Given the description of an element on the screen output the (x, y) to click on. 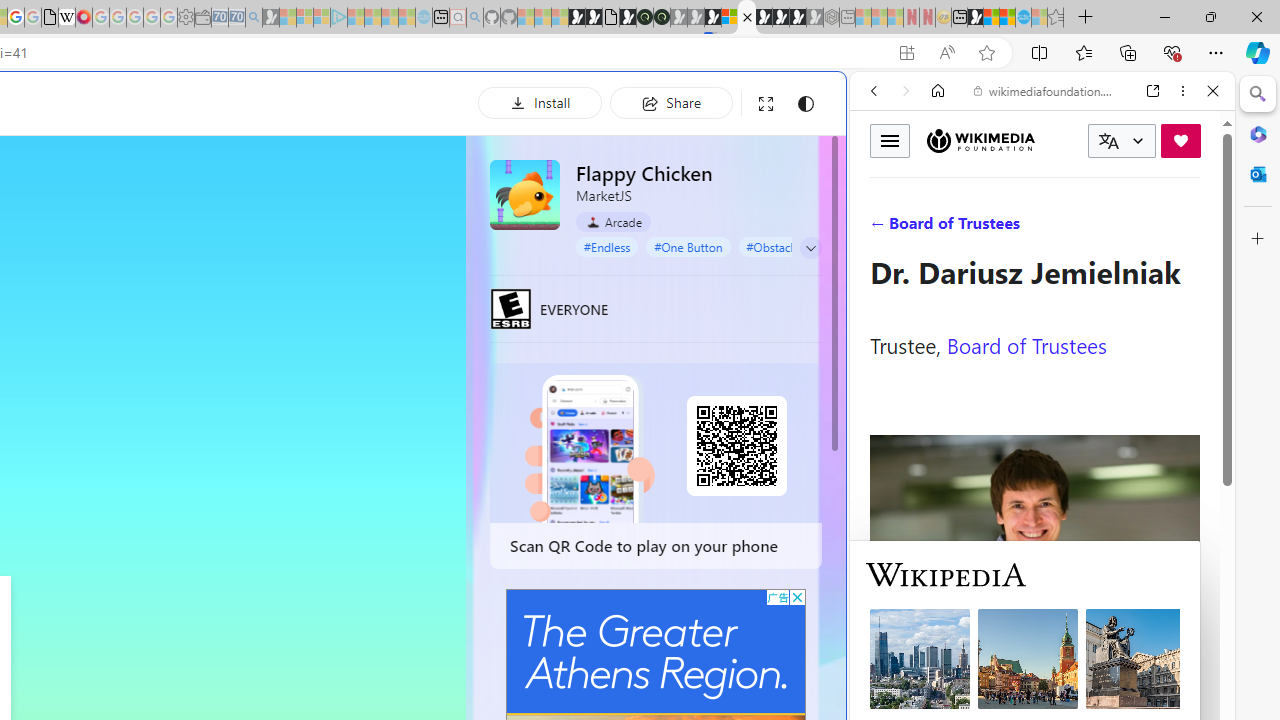
Toggle menu (890, 140)
Class: i icon icon-translate language-switcher__icon (1108, 141)
SEARCH TOOLS (1093, 228)
Earth has six continents not seven, radical new study claims (1007, 17)
AutomationID: cbb (797, 596)
Settings - Sleeping (185, 17)
Close split screen (844, 102)
Class: expand-arrow neutral (810, 247)
Flappy Chicken (525, 194)
#One Button (688, 246)
